Given the description of an element on the screen output the (x, y) to click on. 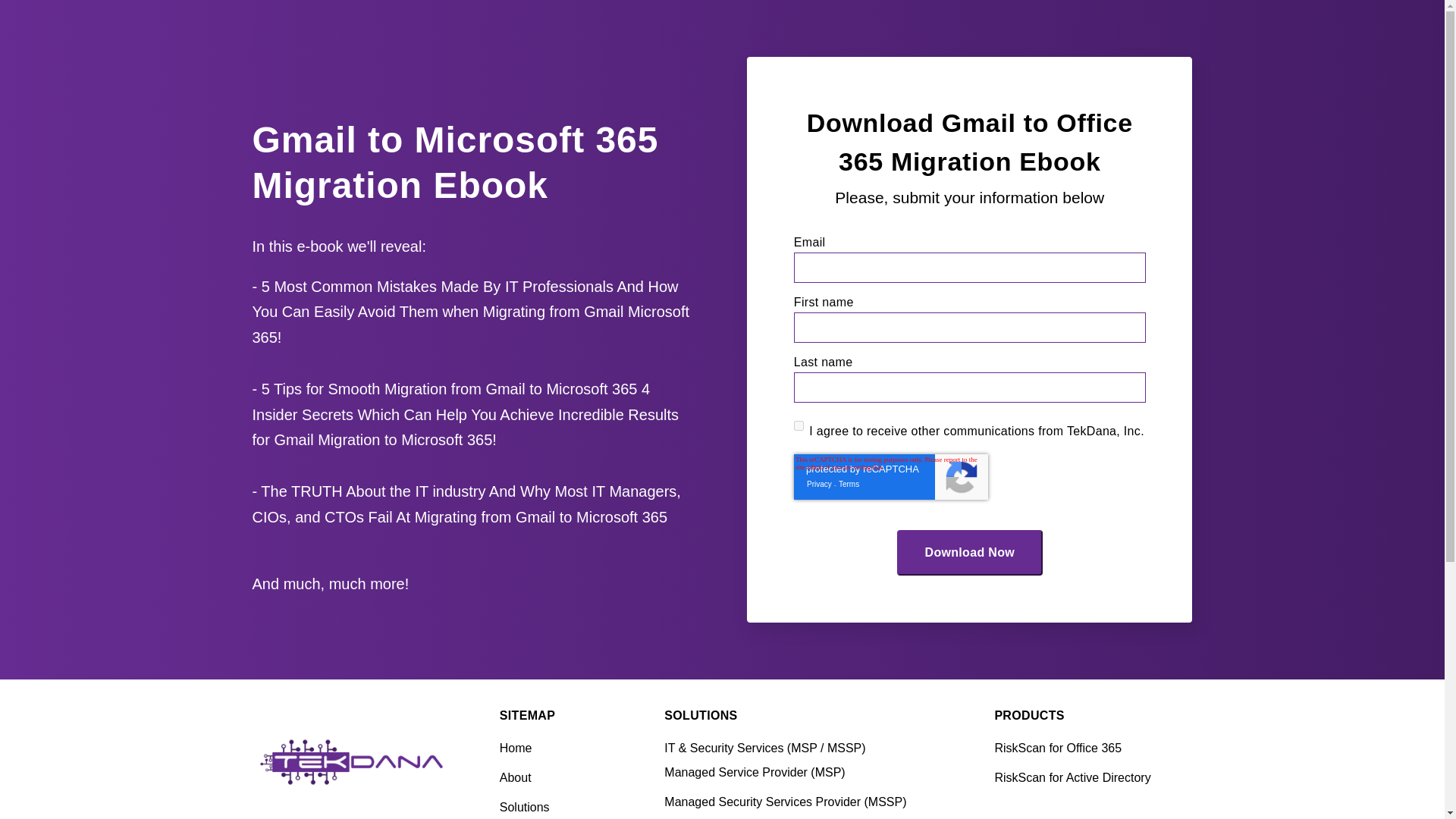
SOLUTIONS (699, 716)
SITEMAP (526, 716)
Solutions (555, 807)
reCAPTCHA (890, 476)
Download Now (969, 552)
Home (555, 748)
RiskScan for Active Directory (1091, 777)
Download Now (969, 552)
About (555, 777)
PRODUCTS (1029, 716)
